Given the description of an element on the screen output the (x, y) to click on. 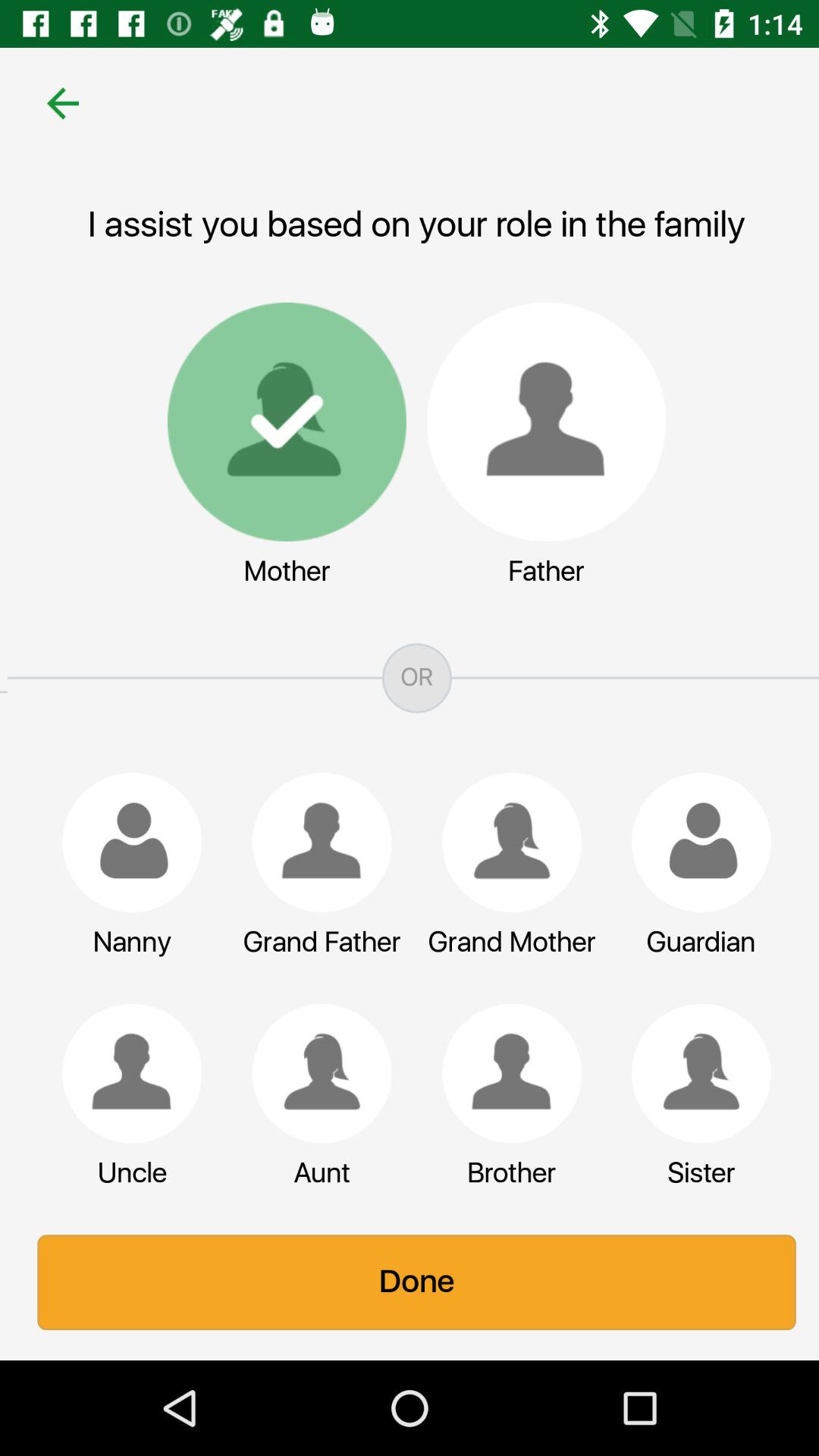
click to nanny contact (124, 842)
